Given the description of an element on the screen output the (x, y) to click on. 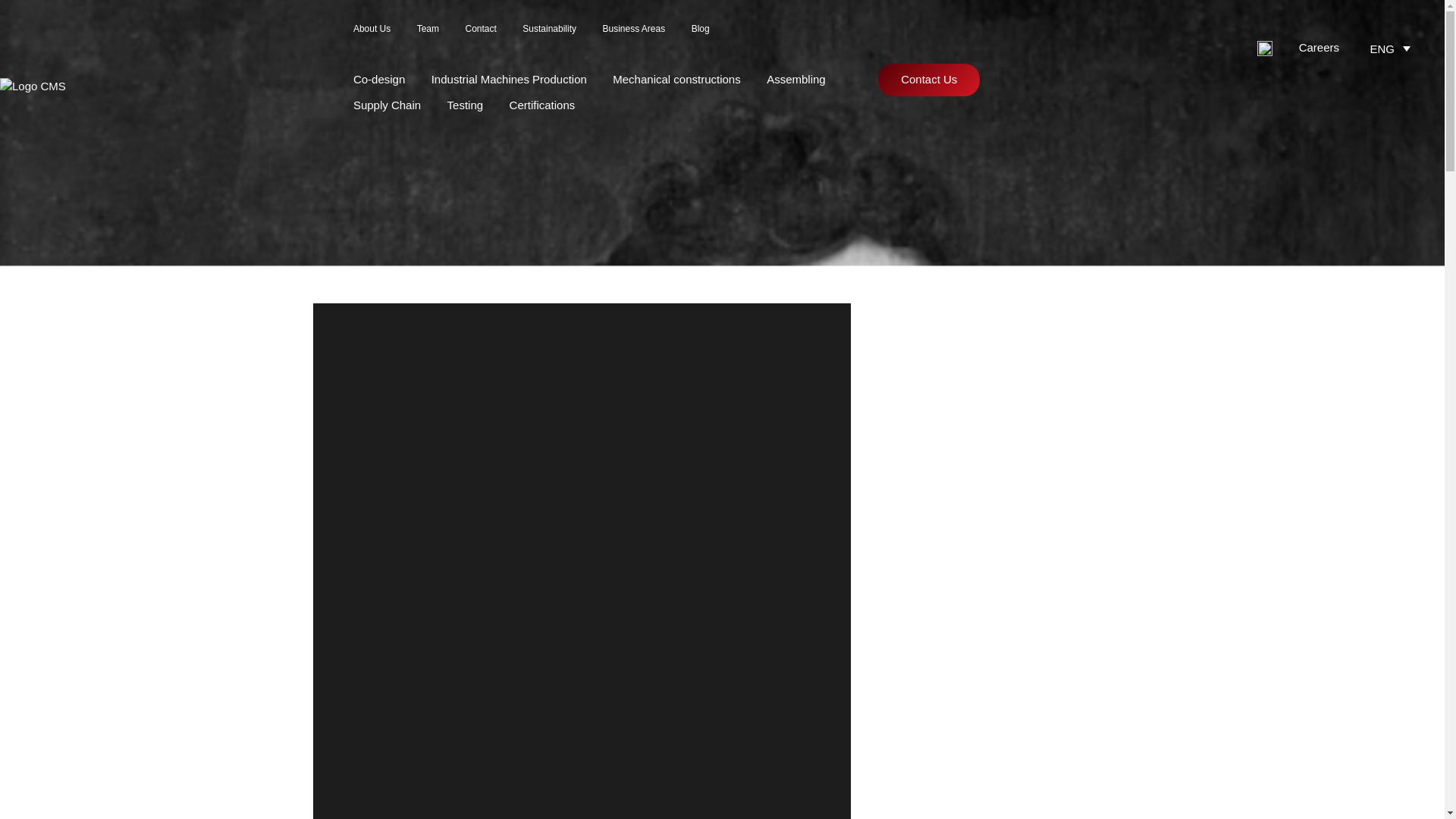
Assembling (796, 78)
Team (427, 28)
Blog (700, 28)
Business Areas (633, 28)
Industrial Machines Production (508, 78)
Certifications (542, 104)
Testing (464, 104)
About Us (371, 28)
Sustainability (549, 28)
Careers (1318, 47)
